Given the description of an element on the screen output the (x, y) to click on. 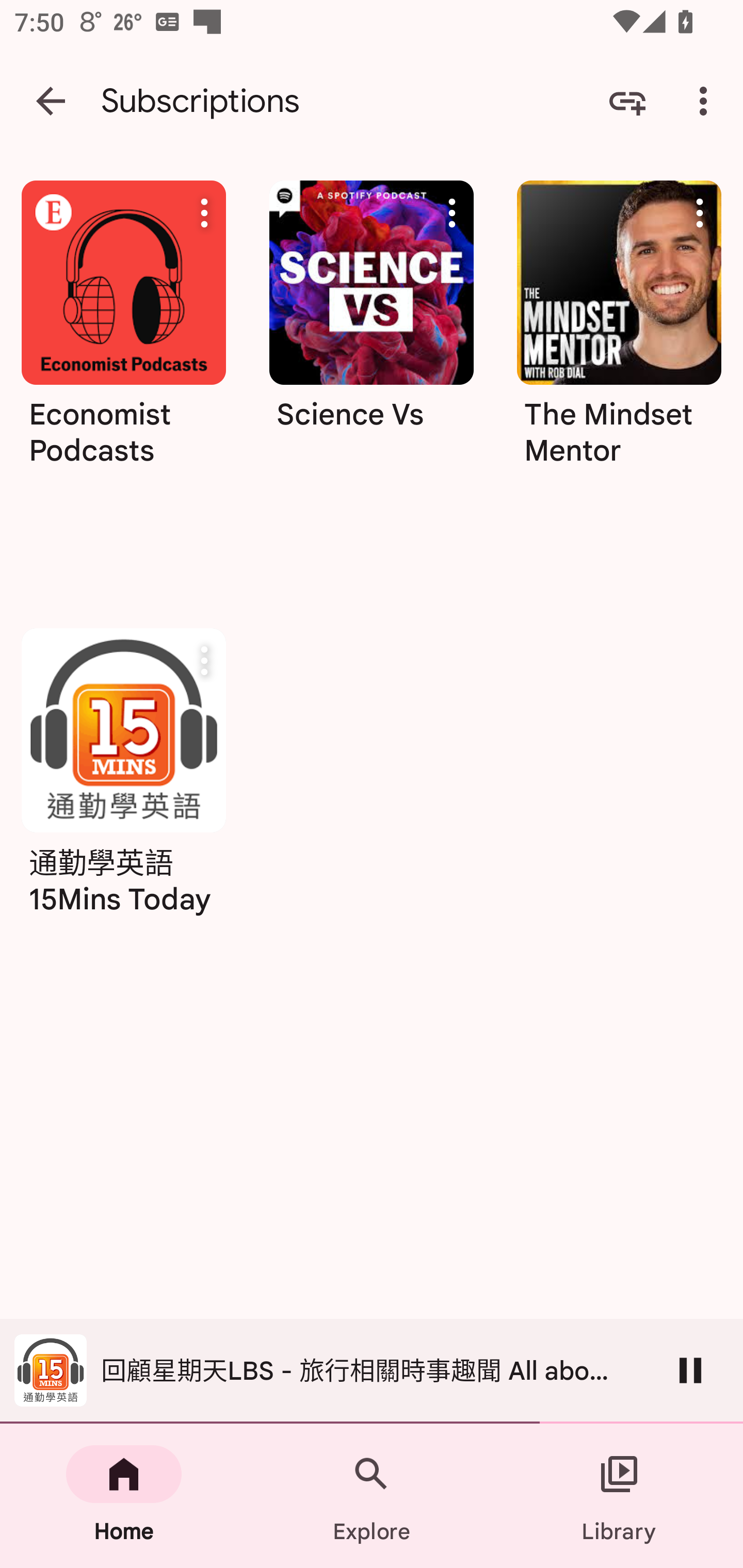
Navigate up (50, 101)
Add by RSS feed (626, 101)
More options (706, 101)
Economist Podcasts More actions Economist Podcasts (123, 382)
Science Vs More actions Science Vs (371, 329)
The Mindset Mentor More actions The Mindset Mentor (619, 329)
More actions (203, 213)
More actions (452, 213)
More actions (699, 213)
通勤學英語 15Mins Today More actions 通勤學英語 15Mins Today (123, 778)
More actions (203, 660)
Pause (690, 1370)
Explore (371, 1495)
Library (619, 1495)
